Given the description of an element on the screen output the (x, y) to click on. 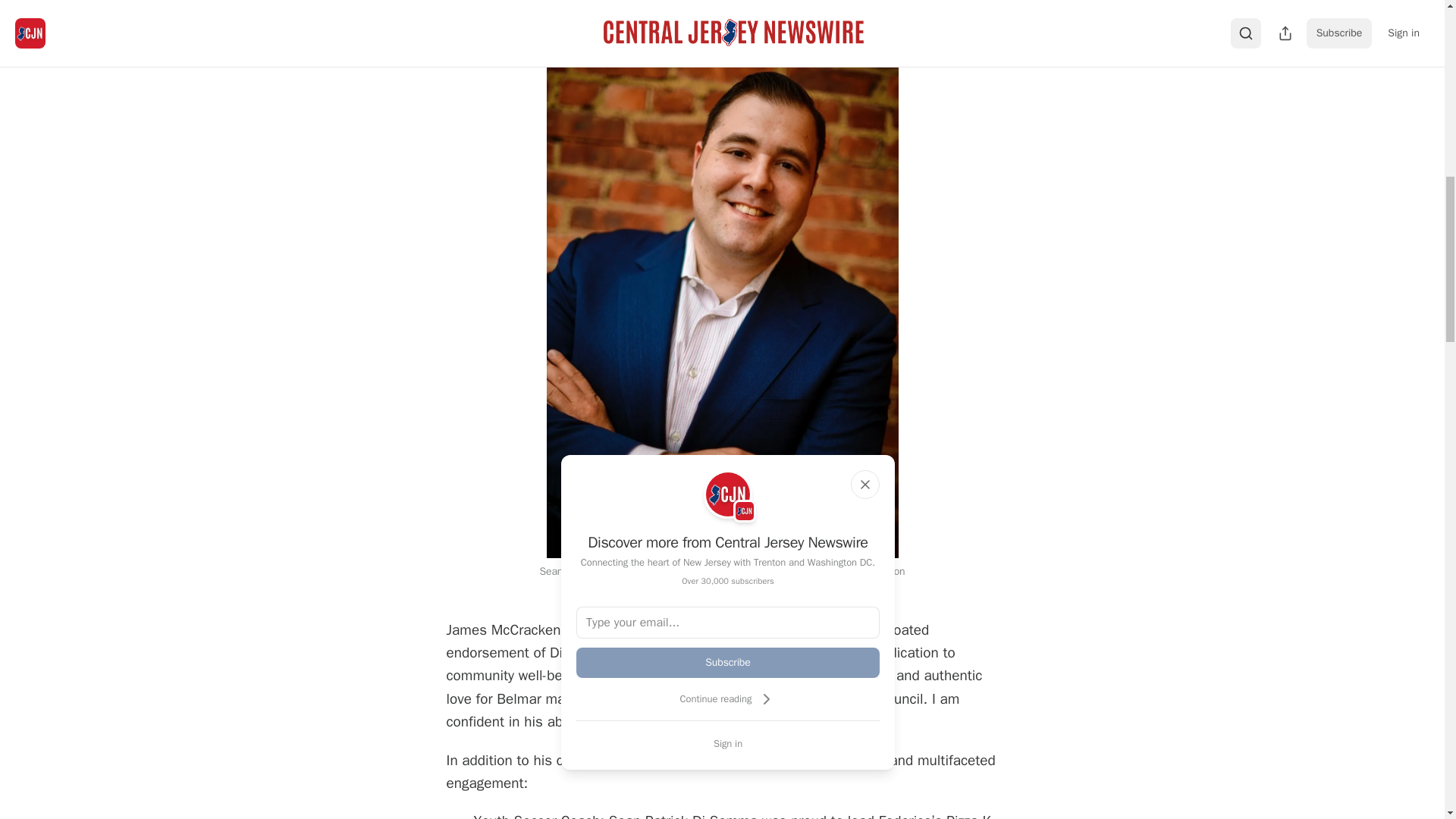
Sign in (727, 743)
Subscribe (727, 662)
